Given the description of an element on the screen output the (x, y) to click on. 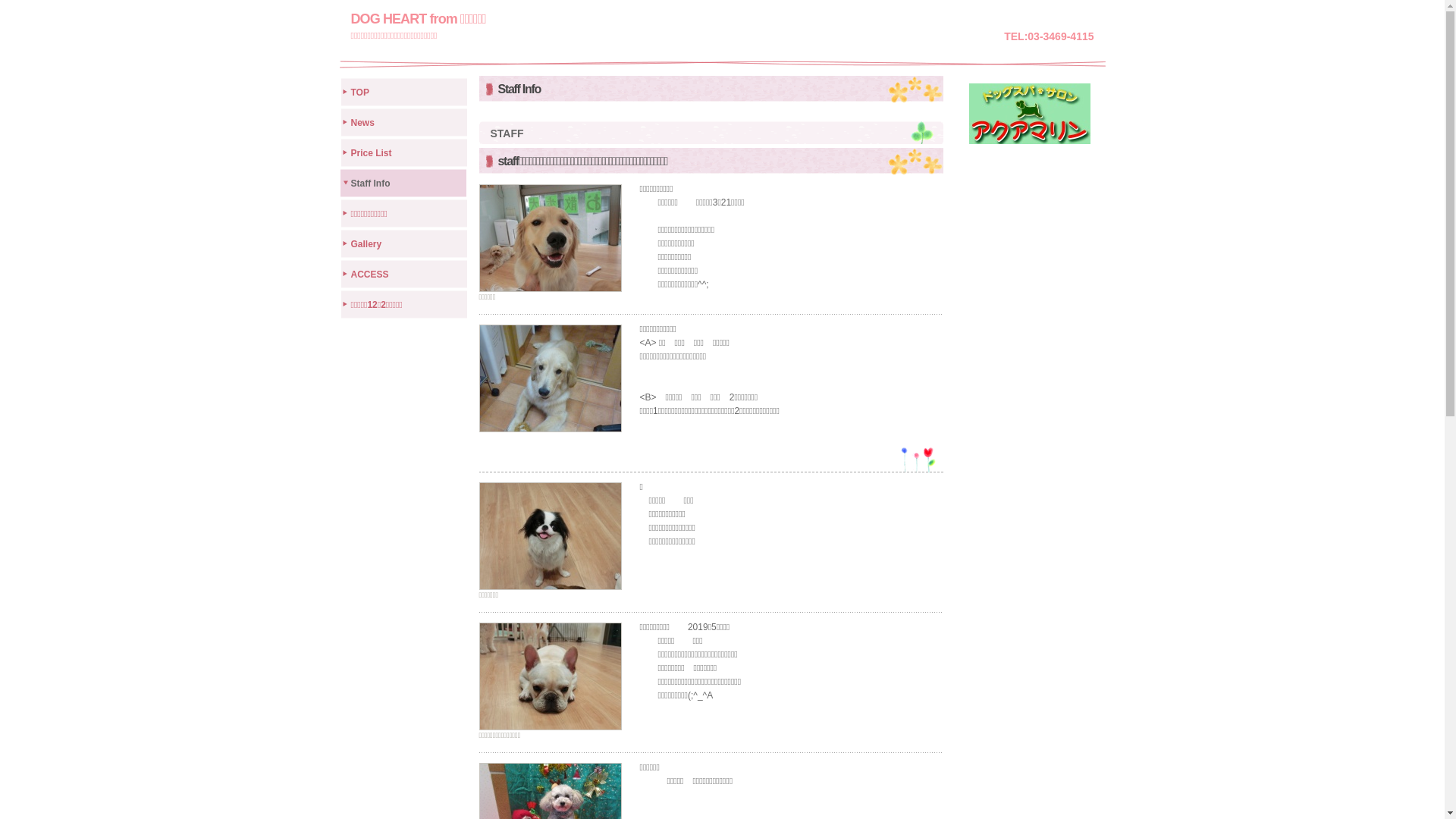
Staff Info Element type: text (403, 181)
ACCESS Element type: text (403, 272)
Price List Element type: text (403, 151)
TOP Element type: text (403, 90)
Gallery Element type: text (403, 242)
News Element type: text (403, 121)
